Given the description of an element on the screen output the (x, y) to click on. 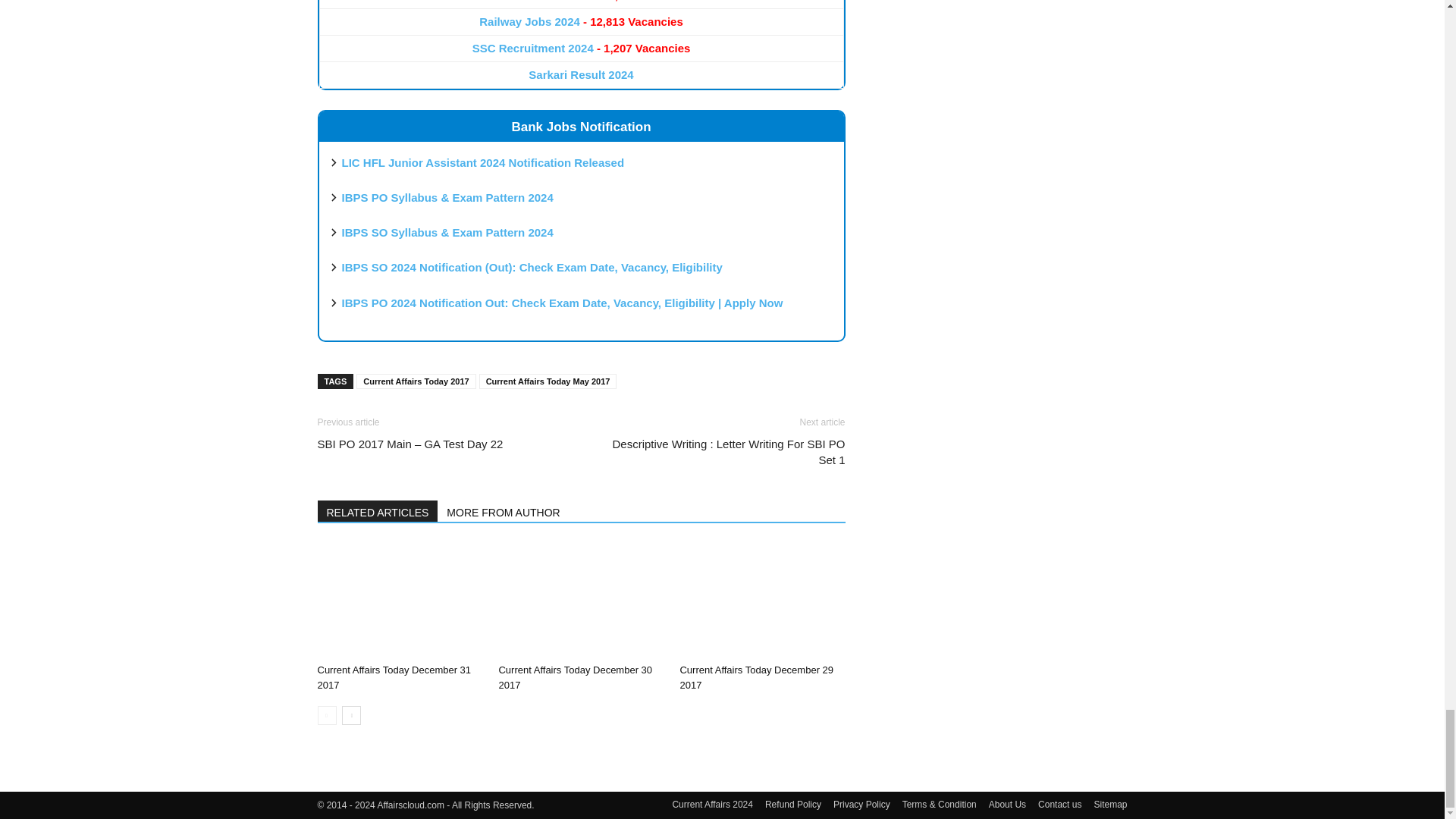
Current Affairs Today December 31 2017 (399, 600)
